Given the description of an element on the screen output the (x, y) to click on. 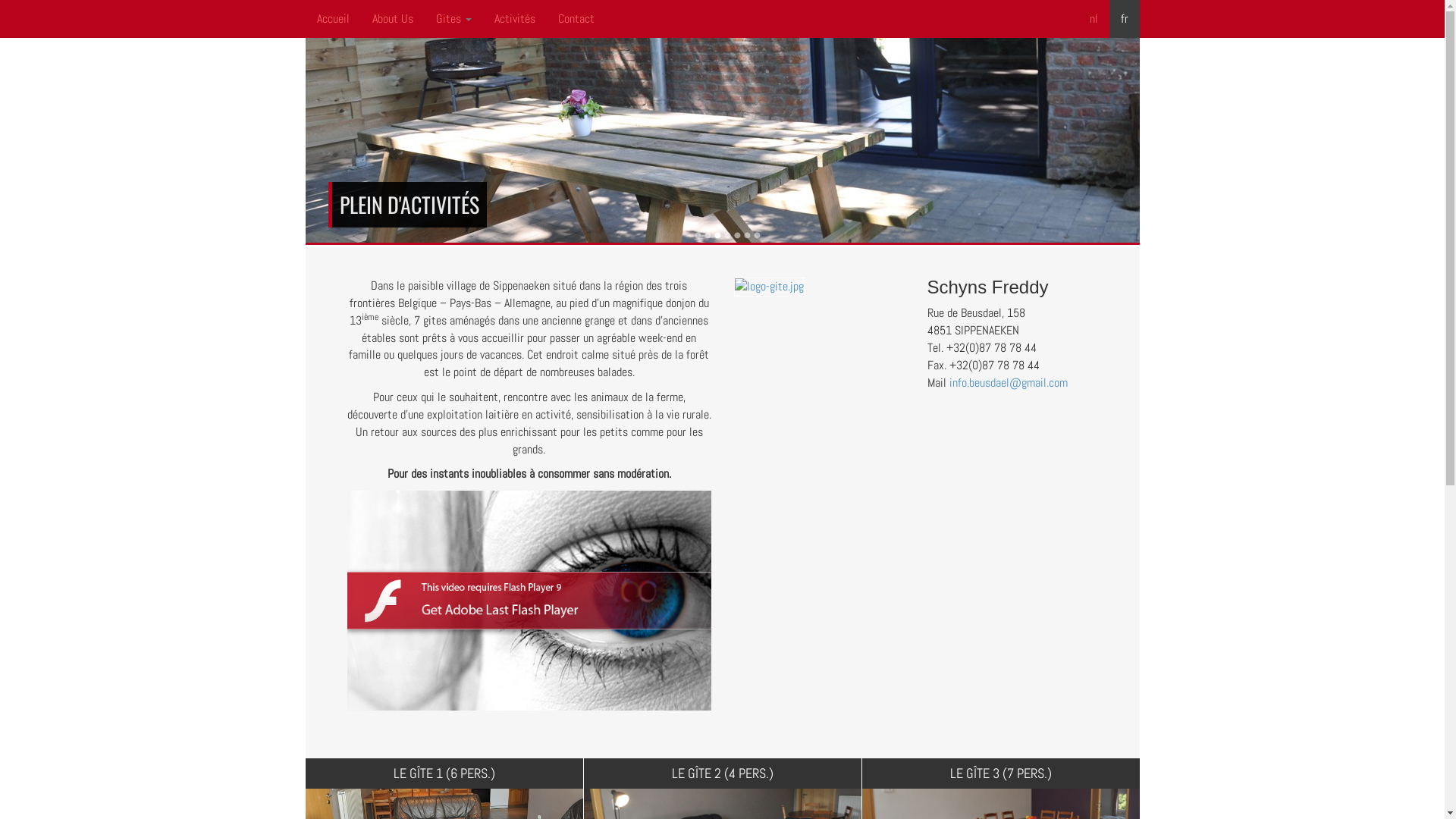
About Us Element type: text (392, 18)
1 Element type: text (697, 235)
3 Element type: text (717, 235)
use mousewheel to switch images Element type: hover (769, 285)
info.beusdael@gmail.com Element type: text (1008, 382)
nl Element type: text (1093, 18)
4 Element type: text (727, 235)
Accueil Element type: text (332, 18)
6 Element type: text (746, 235)
2 Element type: text (707, 235)
fr Element type: text (1123, 18)
7 Element type: text (756, 235)
5 Element type: text (737, 235)
Gites Element type: text (453, 18)
Contact Element type: text (575, 18)
